Given the description of an element on the screen output the (x, y) to click on. 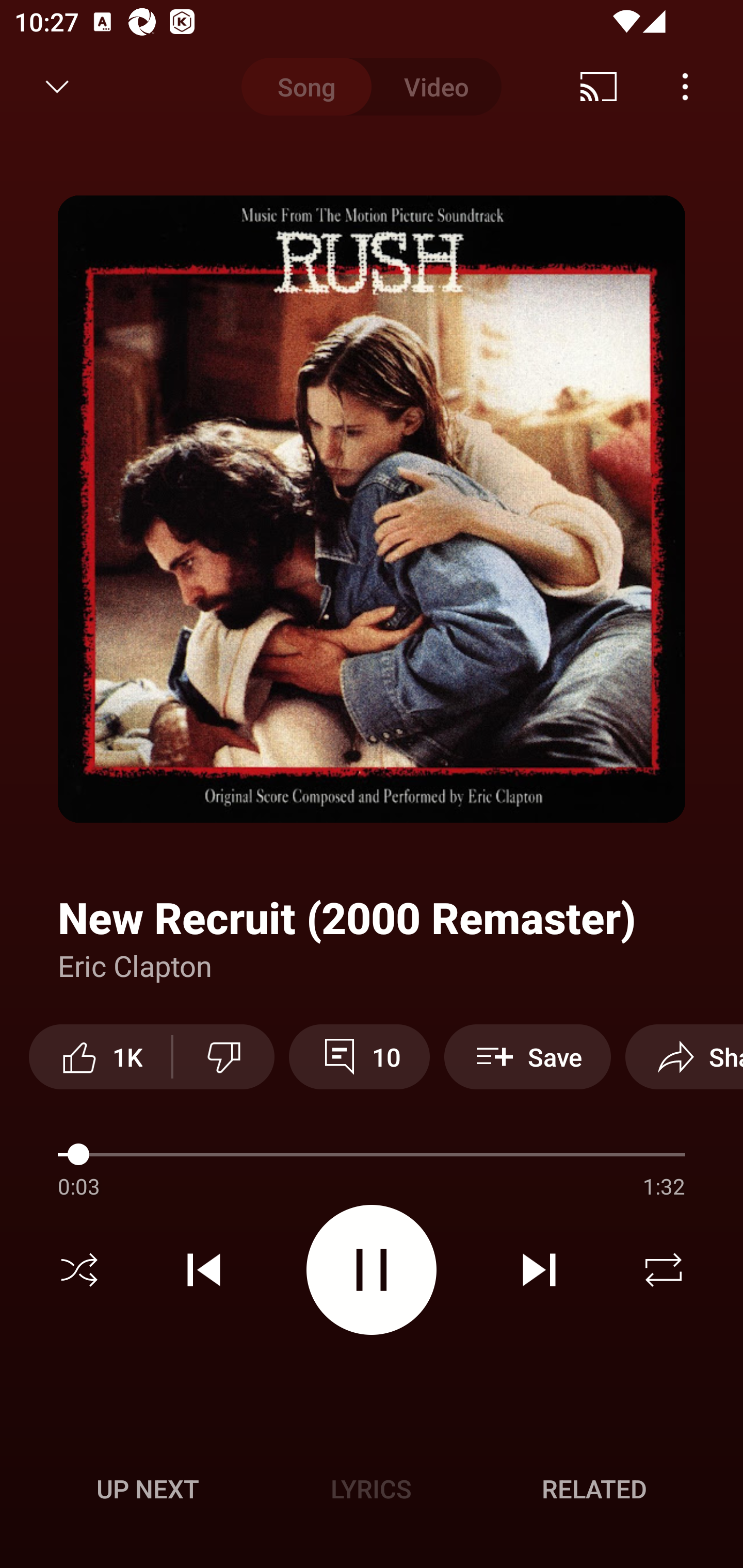
Minimize (57, 86)
Cast. Disconnected (598, 86)
Search (692, 86)
1K like this video along with 1,034 other people (99, 1056)
Dislike (223, 1056)
10 View 10 comments (359, 1056)
Save Save to playlist (527, 1056)
Share (684, 1056)
Pause video (371, 1269)
Shuffle off (79, 1269)
Previous track (203, 1269)
Next track (538, 1269)
Repeat off (663, 1269)
Lyrics LYRICS (370, 1488)
Related RELATED (594, 1488)
